Given the description of an element on the screen output the (x, y) to click on. 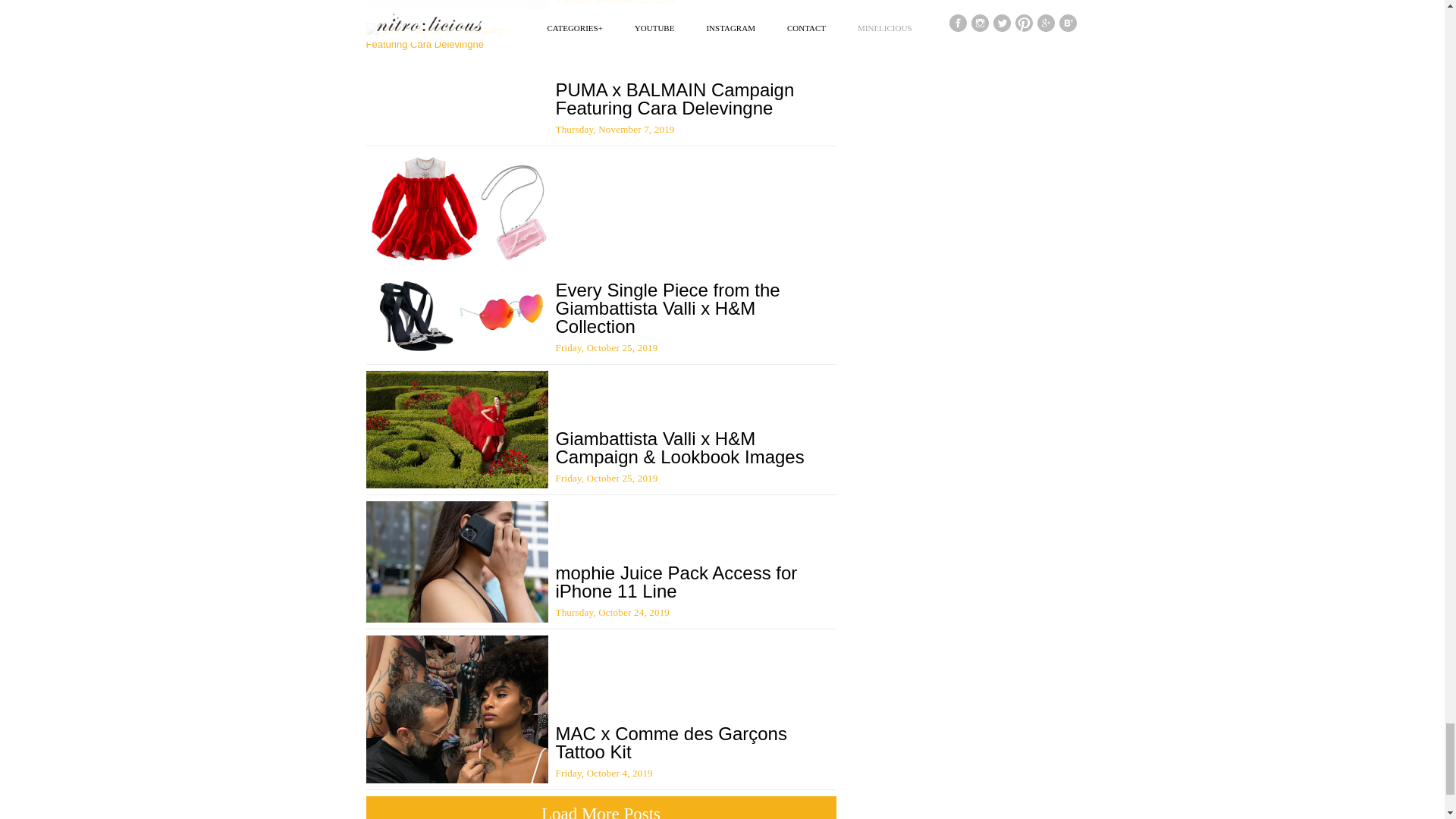
PUMA x BALMAIN Campaign Featuring Cara Delevingne (673, 98)
